Given the description of an element on the screen output the (x, y) to click on. 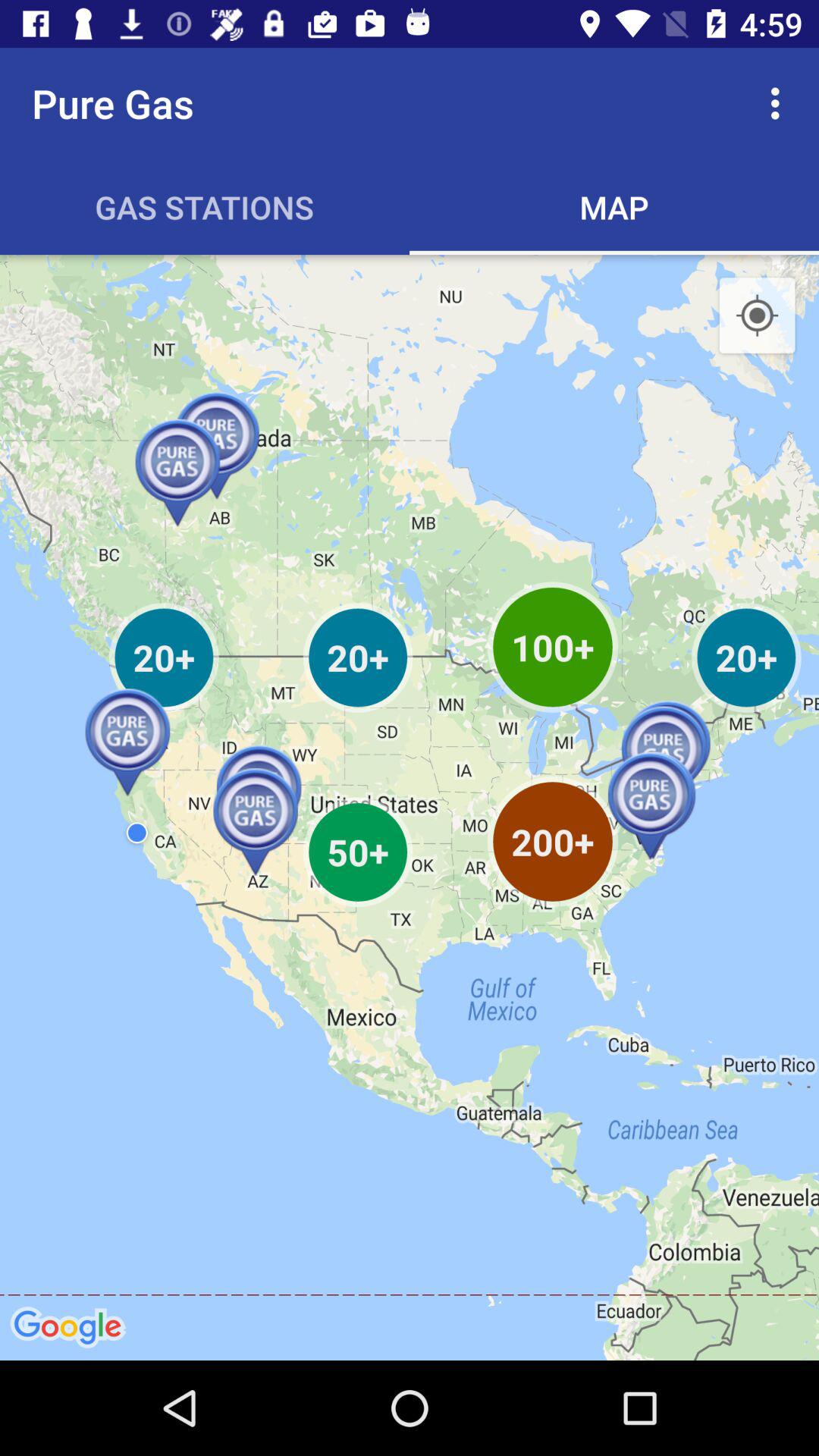
turn on item at the center (409, 807)
